Given the description of an element on the screen output the (x, y) to click on. 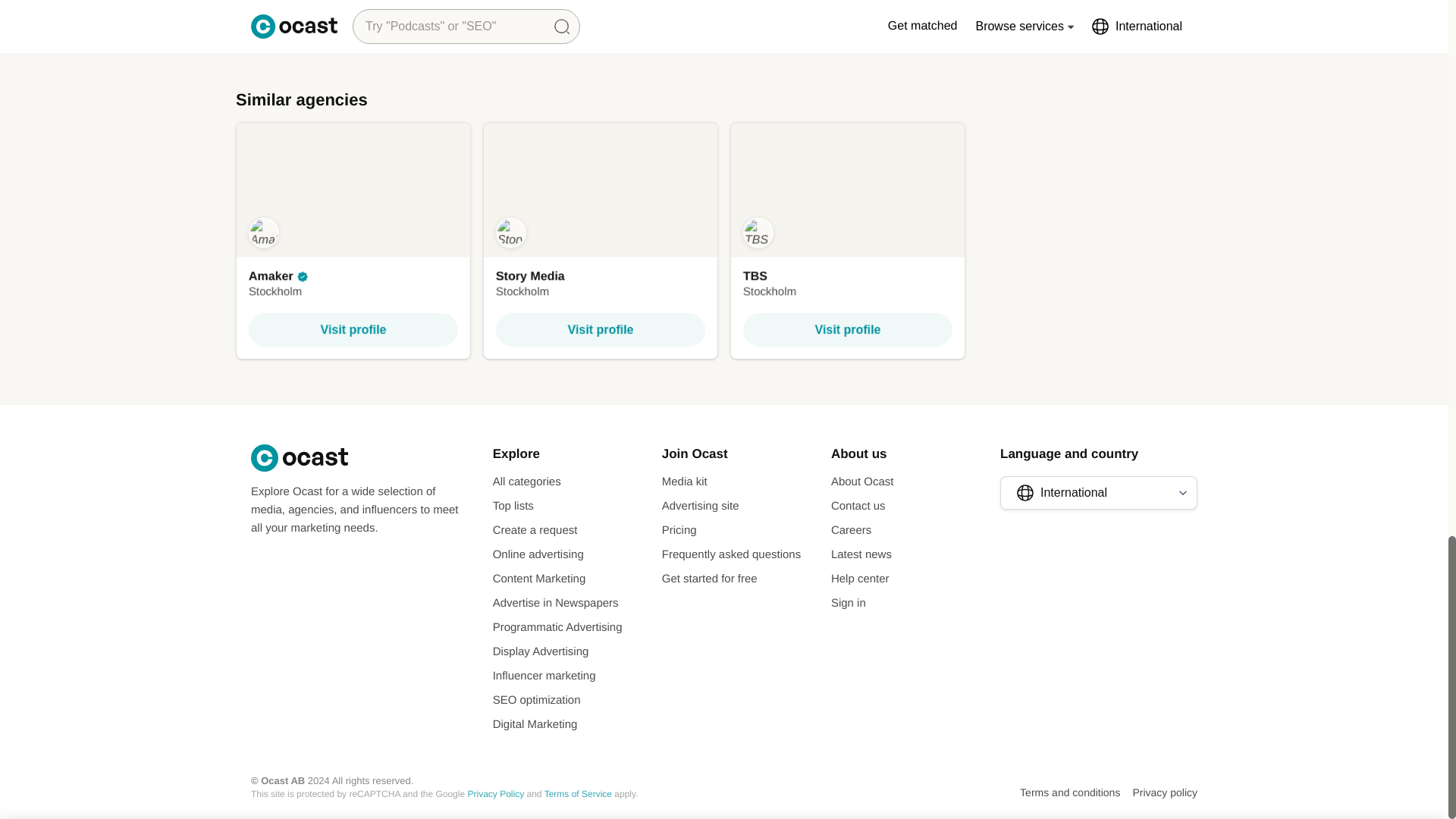
Contact us (858, 506)
Pricing (679, 530)
Visit profile (847, 329)
Get started for free (709, 579)
Careers (850, 530)
Influencer marketing (544, 676)
Advertising site (847, 240)
Visit profile (700, 506)
Online advertising (600, 329)
